Given the description of an element on the screen output the (x, y) to click on. 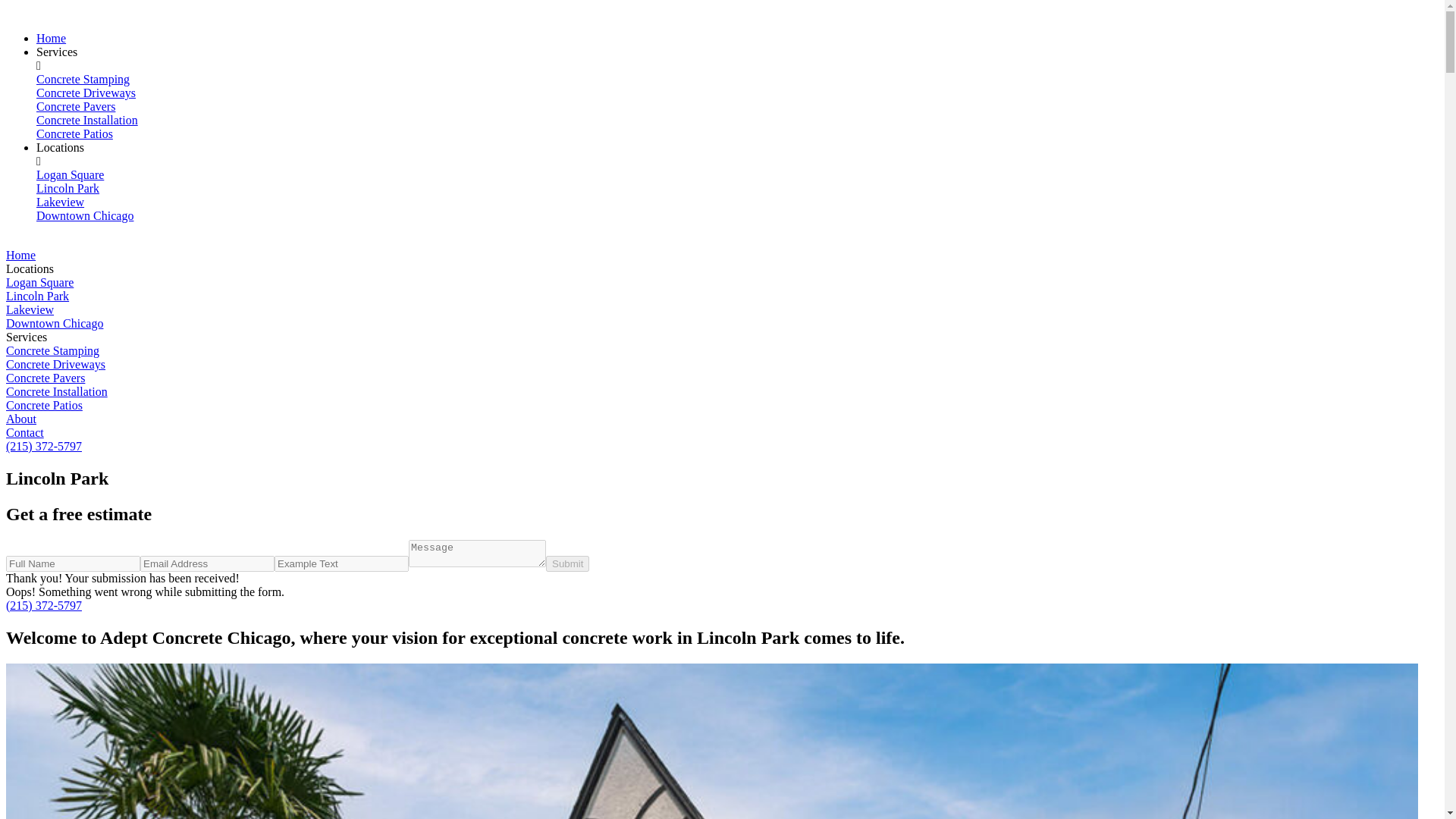
Lakeview (29, 309)
Concrete Installation (87, 119)
Logan Square (69, 174)
Lincoln Park (36, 295)
Concrete Patios (43, 404)
Downtown Chicago (84, 215)
Concrete Driveways (85, 92)
Concrete Pavers (44, 377)
Concrete Patios (74, 133)
Lincoln Park (67, 187)
Concrete Stamping (82, 78)
Submit (567, 563)
Lakeview (60, 201)
Concrete Pavers (75, 106)
Submit (567, 563)
